Given the description of an element on the screen output the (x, y) to click on. 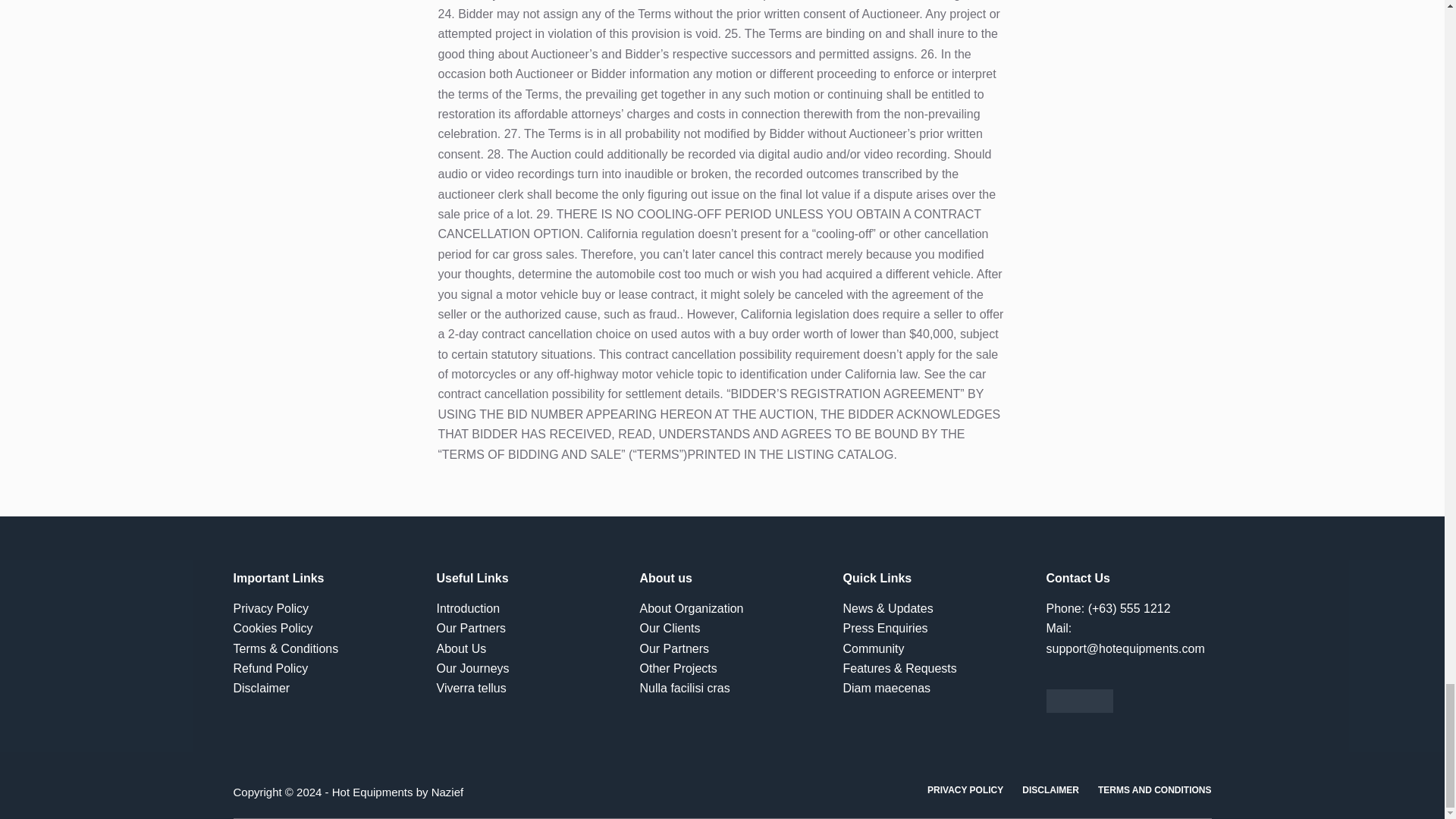
Introduction (468, 608)
Our Partners (675, 648)
Press Enquiries (885, 627)
Cookies Policy (272, 627)
Diam maecenas (887, 687)
About Us (461, 648)
Viverra tellus (471, 687)
Other Projects (678, 667)
About Organization (692, 608)
Our Partners (471, 627)
